Given the description of an element on the screen output the (x, y) to click on. 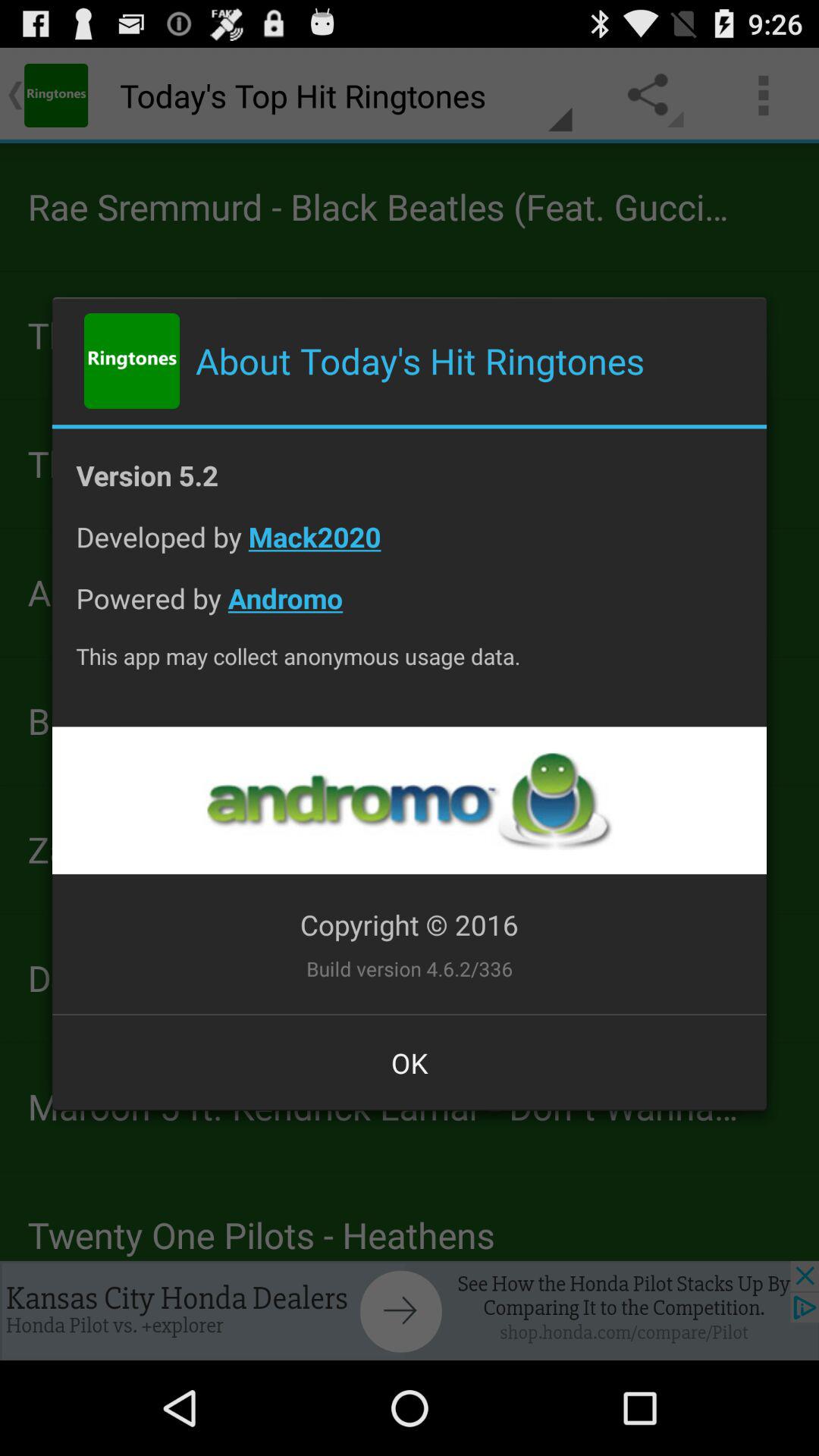
click the item below the build version 4 (409, 1062)
